Given the description of an element on the screen output the (x, y) to click on. 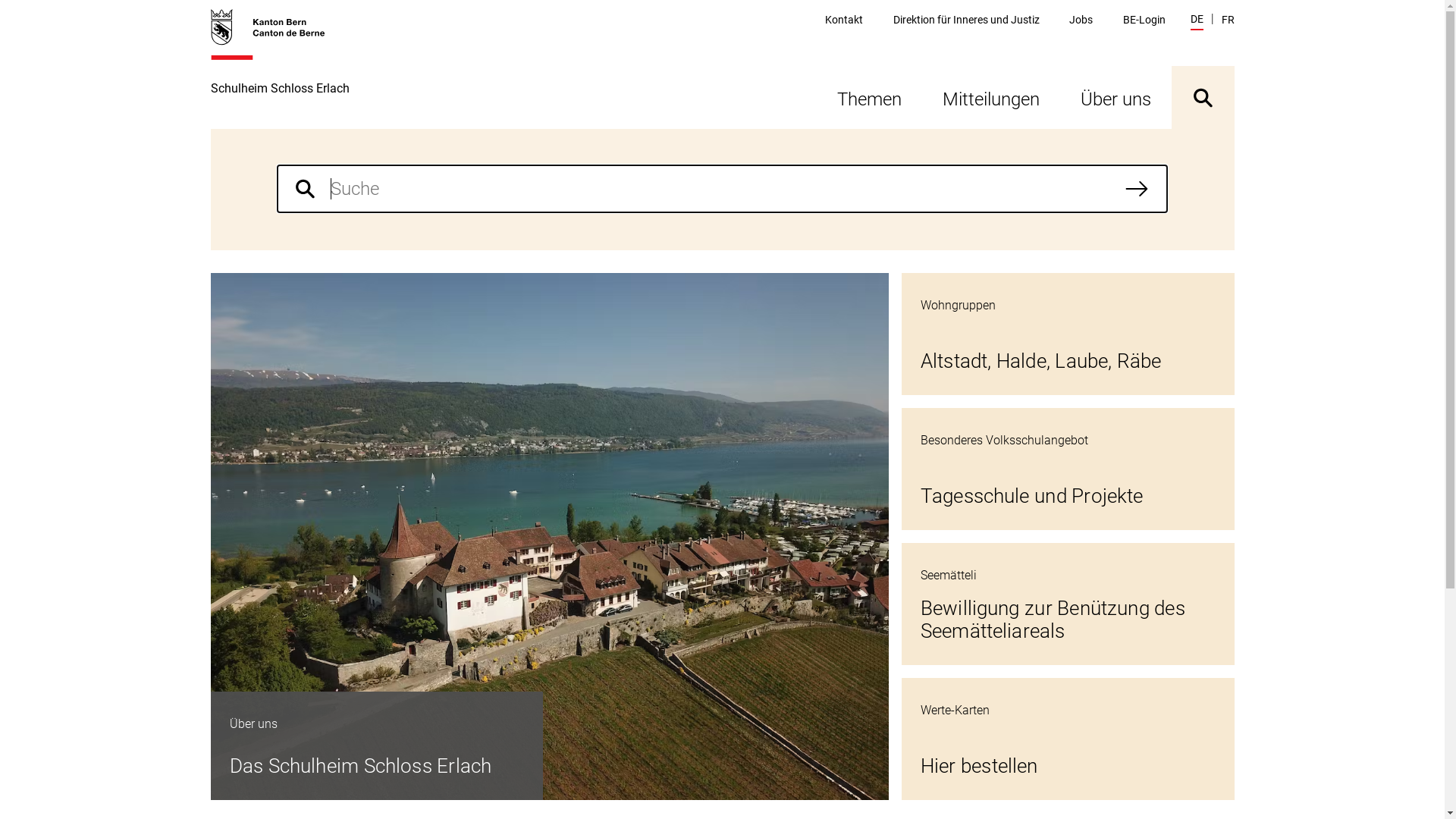
DE Element type: text (1196, 21)
FR Element type: text (1226, 19)
Themen Element type: text (868, 96)
Jobs Element type: text (1080, 19)
Tagesschule und Projekte
Besonderes Volksschulangebot Element type: text (1067, 468)
Hier bestellen 
Werte-Karten Element type: text (1067, 738)
Kontakt Element type: text (843, 19)
BE-Login Element type: text (1144, 19)
Suchen Element type: text (1136, 188)
Suche ein- oder ausblenden Element type: text (1201, 96)
Mitteilungen Element type: text (991, 96)
Schulheim Schloss Erlach Element type: text (279, 68)
